Given the description of an element on the screen output the (x, y) to click on. 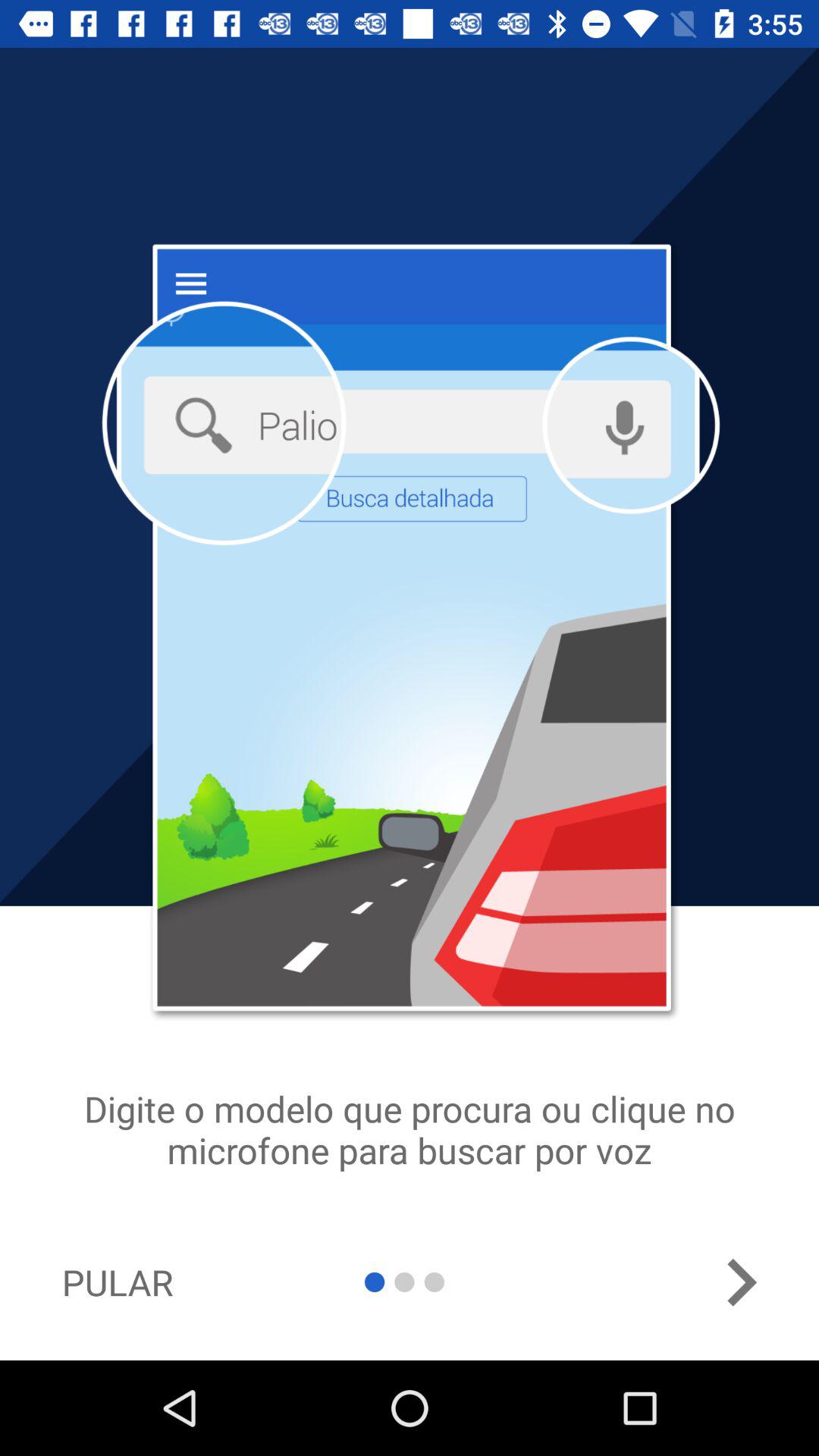
next screen (740, 1282)
